Given the description of an element on the screen output the (x, y) to click on. 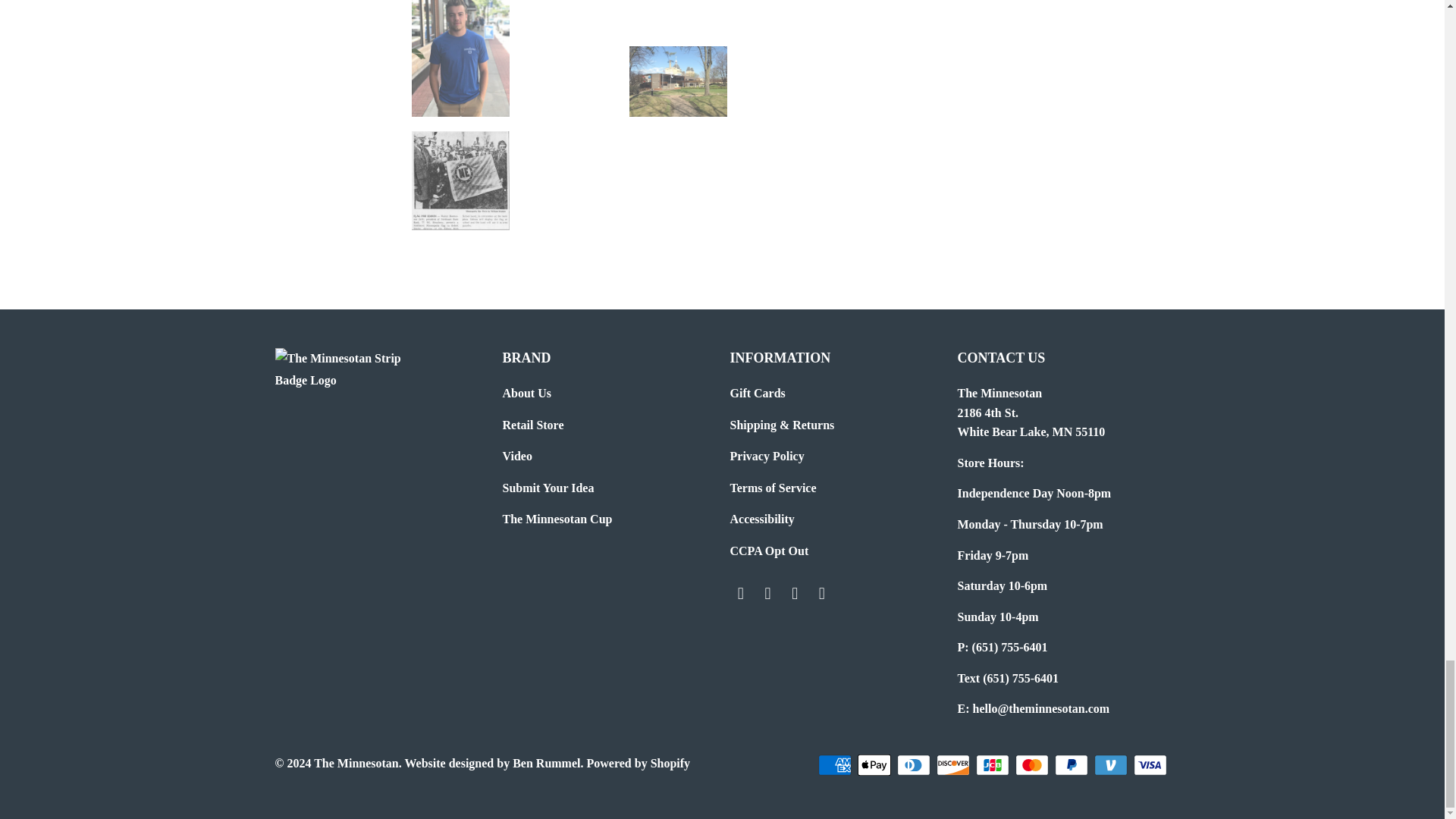
Visa (1150, 764)
JCB (993, 764)
American Express (834, 764)
Discover (954, 764)
Mastercard (1032, 764)
The Minnesotan on YouTube (795, 593)
The Minnesotan on Instagram (822, 593)
Venmo (1111, 764)
Diners Club (914, 764)
PayPal (1072, 764)
